Given the description of an element on the screen output the (x, y) to click on. 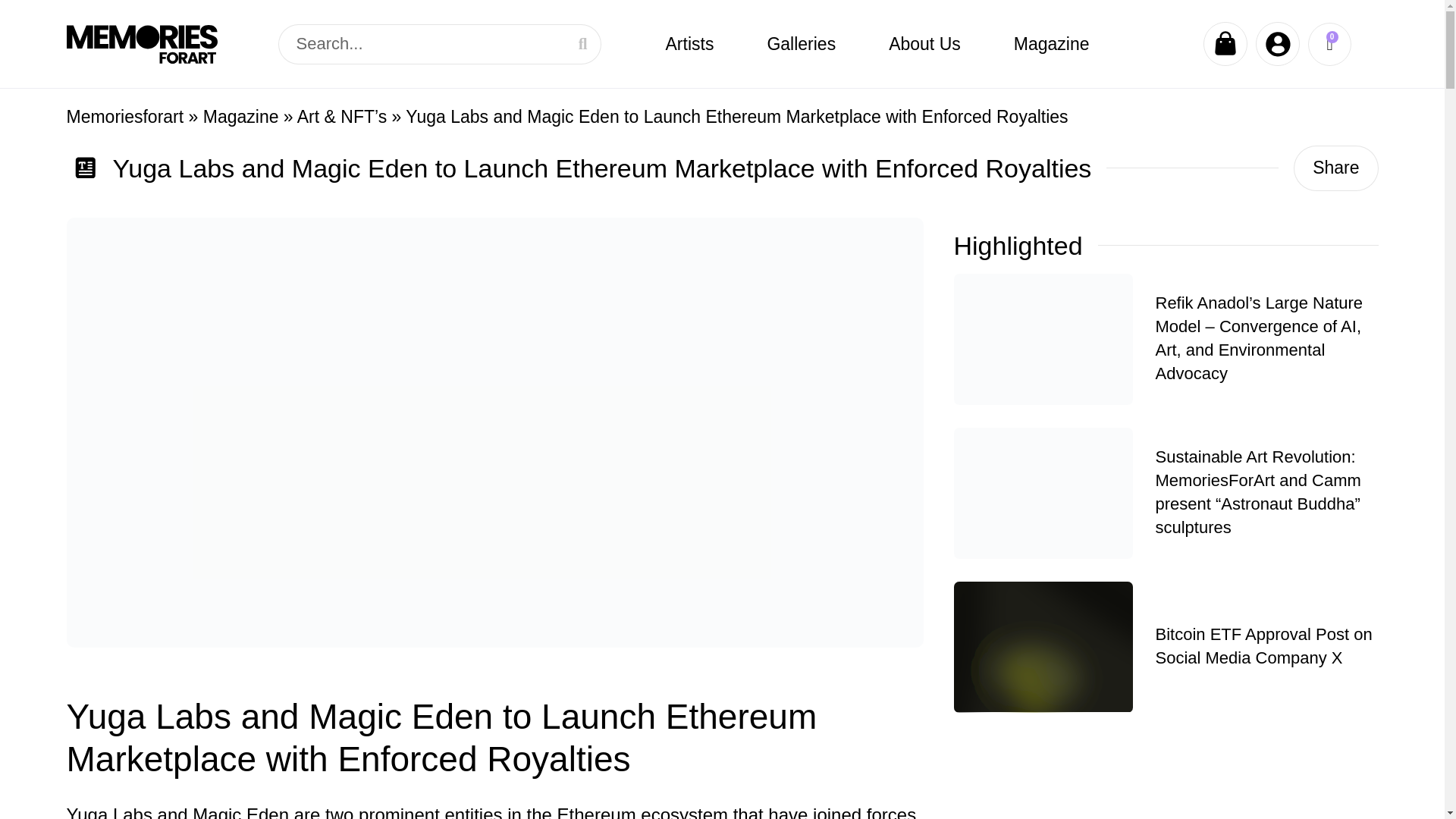
Magazine (241, 116)
Bitcoin ETF Approval Post on Social Media Company X (1264, 645)
Magazine (1051, 44)
Galleries (801, 44)
Memoriesforart (125, 116)
0 (1329, 44)
Share (1335, 167)
Artists (689, 44)
About Us (924, 44)
